Given the description of an element on the screen output the (x, y) to click on. 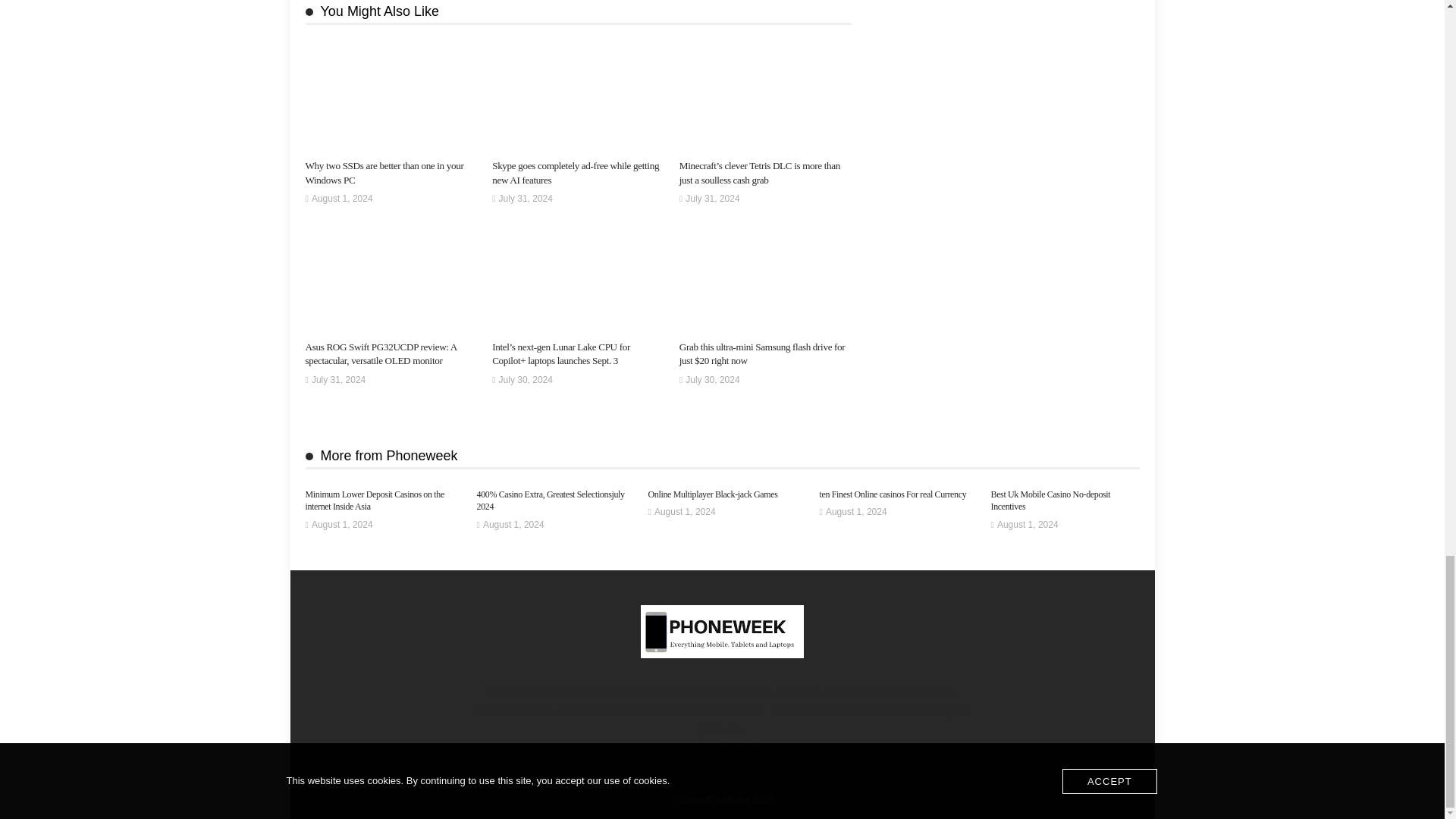
Why two SSDs are better than one in your Windows PC (383, 172)
Skype goes completely ad-free while getting new AI features (575, 172)
